Given the description of an element on the screen output the (x, y) to click on. 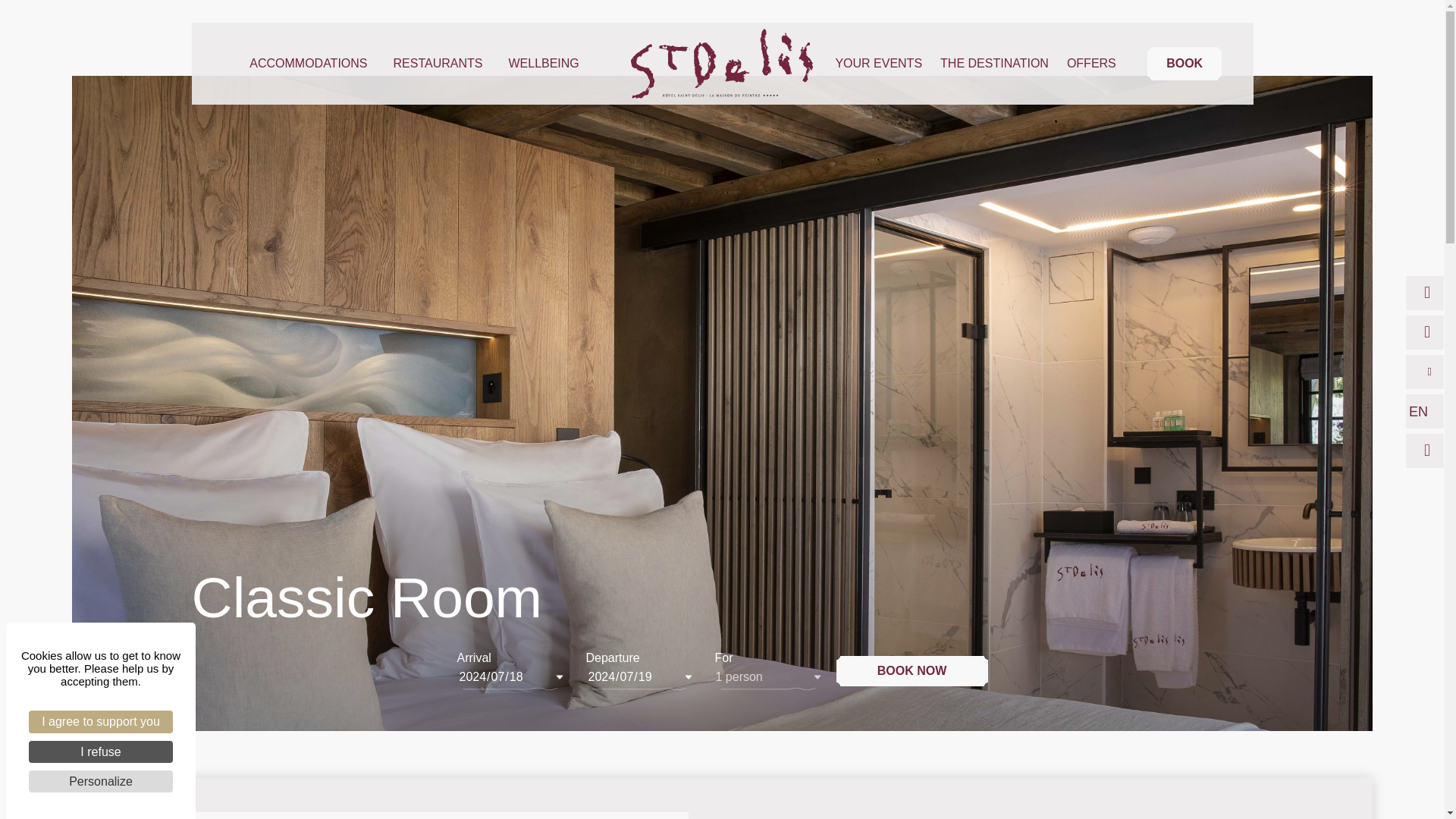
THE DESTINATION (994, 63)
2024-07-18 (509, 676)
RESTAURANTS (441, 63)
YOUR EVENTS (877, 63)
OFFERS (1091, 63)
2024-07-19 (638, 676)
BOOK (1184, 63)
WELLBEING (543, 63)
ACCOMMODATIONS (311, 63)
